Given the description of an element on the screen output the (x, y) to click on. 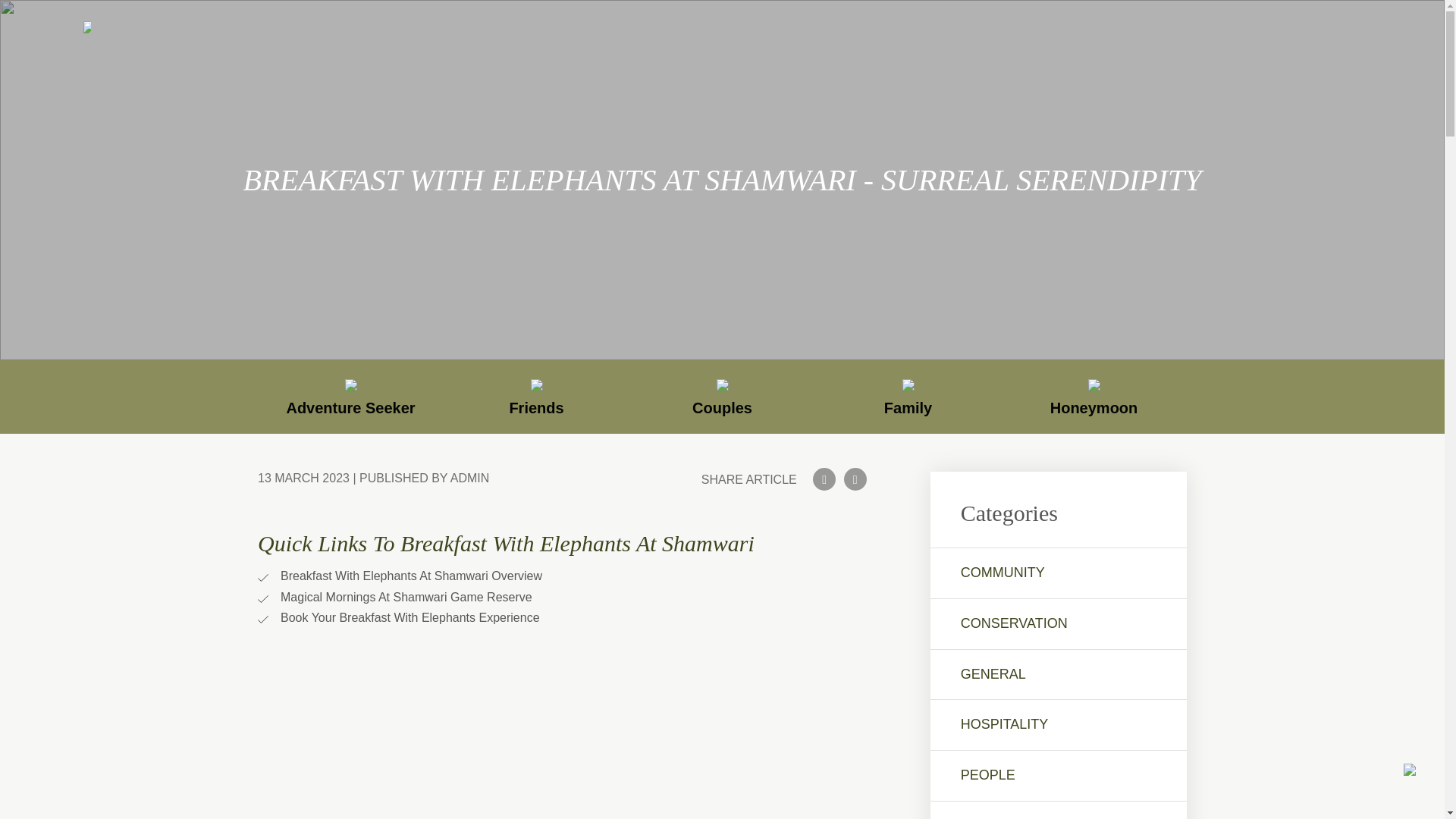
Adventure Seeker (350, 396)
YouTube video player (563, 734)
Family (908, 396)
Honeymoon (1093, 396)
Couples (721, 396)
Friends (536, 396)
